Given the description of an element on the screen output the (x, y) to click on. 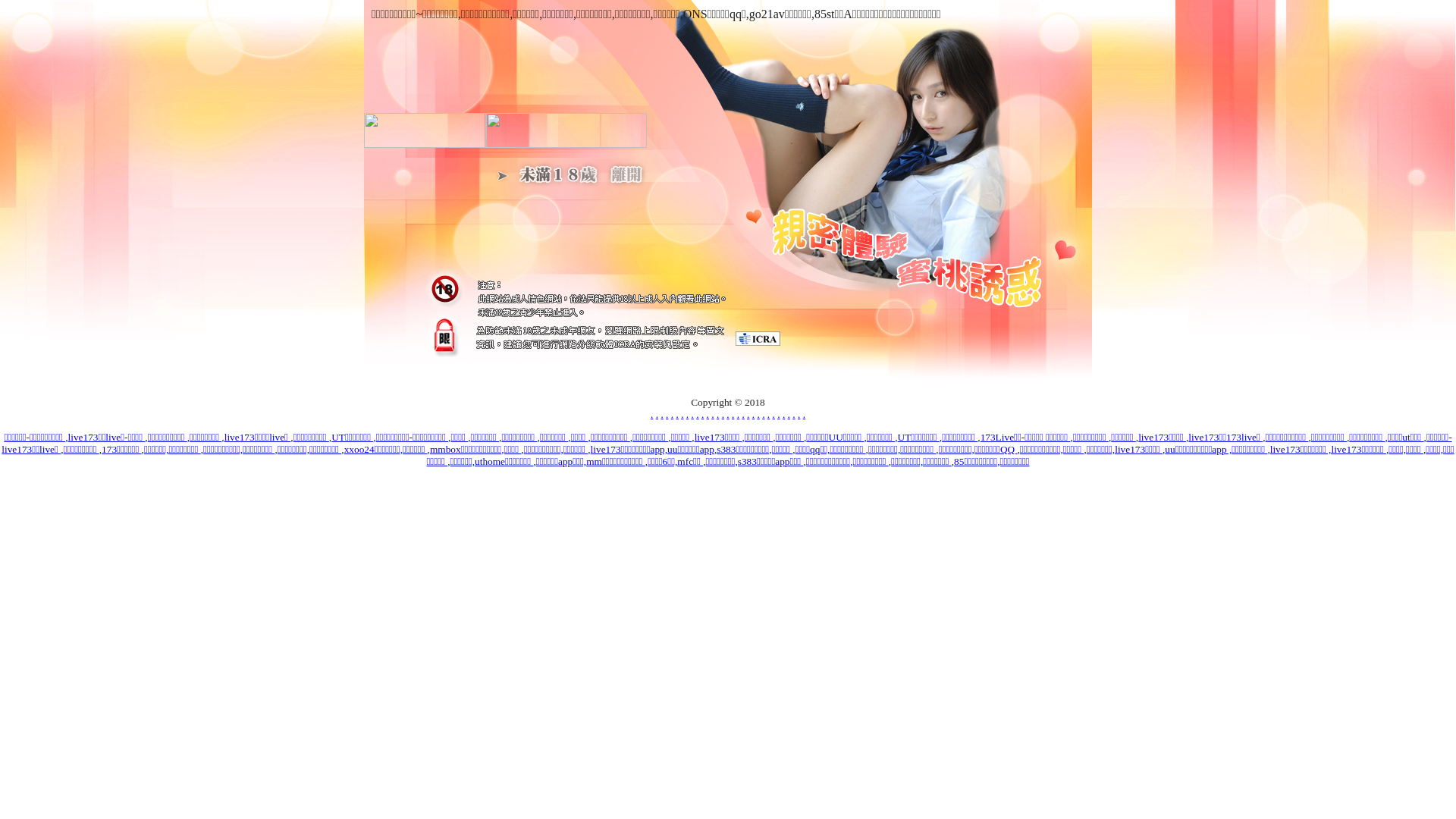
. Element type: text (773, 414)
. Element type: text (692, 414)
. Element type: text (722, 414)
. Element type: text (768, 414)
. Element type: text (651, 414)
. Element type: text (742, 414)
. Element type: text (783, 414)
. Element type: text (702, 414)
. Element type: text (732, 414)
. Element type: text (788, 414)
. Element type: text (717, 414)
. Element type: text (656, 414)
. Element type: text (661, 414)
. Element type: text (672, 414)
. Element type: text (804, 414)
. Element type: text (793, 414)
. Element type: text (727, 414)
. Element type: text (676, 414)
. Element type: text (763, 414)
. Element type: text (666, 414)
. Element type: text (753, 414)
. Element type: text (757, 414)
. Element type: text (712, 414)
. Element type: text (707, 414)
. Element type: text (778, 414)
. Element type: text (738, 414)
. Element type: text (697, 414)
. Element type: text (798, 414)
. Element type: text (747, 414)
. Element type: text (687, 414)
. Element type: text (681, 414)
